Given the description of an element on the screen output the (x, y) to click on. 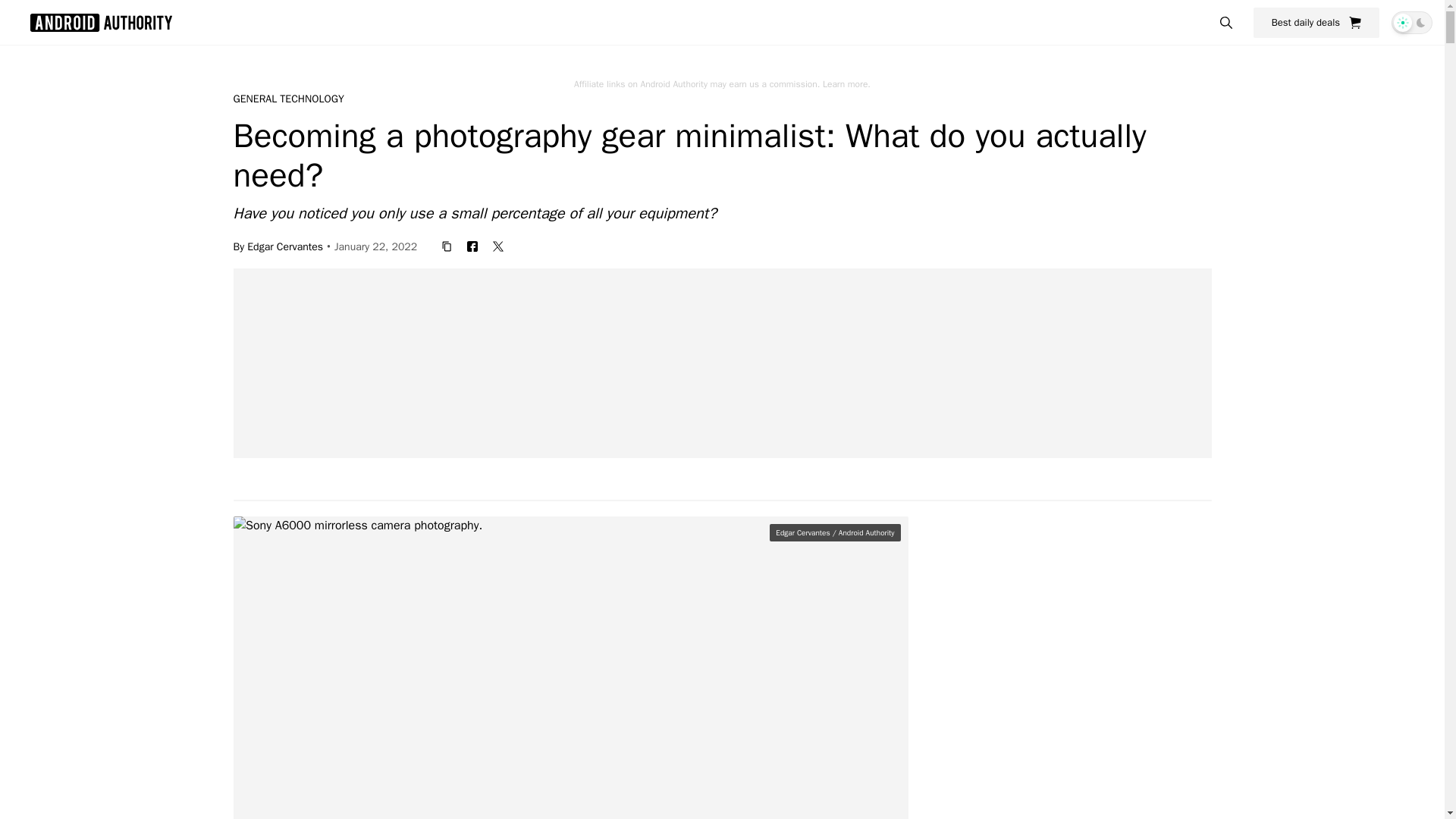
GENERAL TECHNOLOGY (287, 98)
twitter (497, 246)
Learn more. (846, 83)
Edgar Cervantes (285, 245)
Best daily deals (1315, 22)
facebook (472, 246)
